Given the description of an element on the screen output the (x, y) to click on. 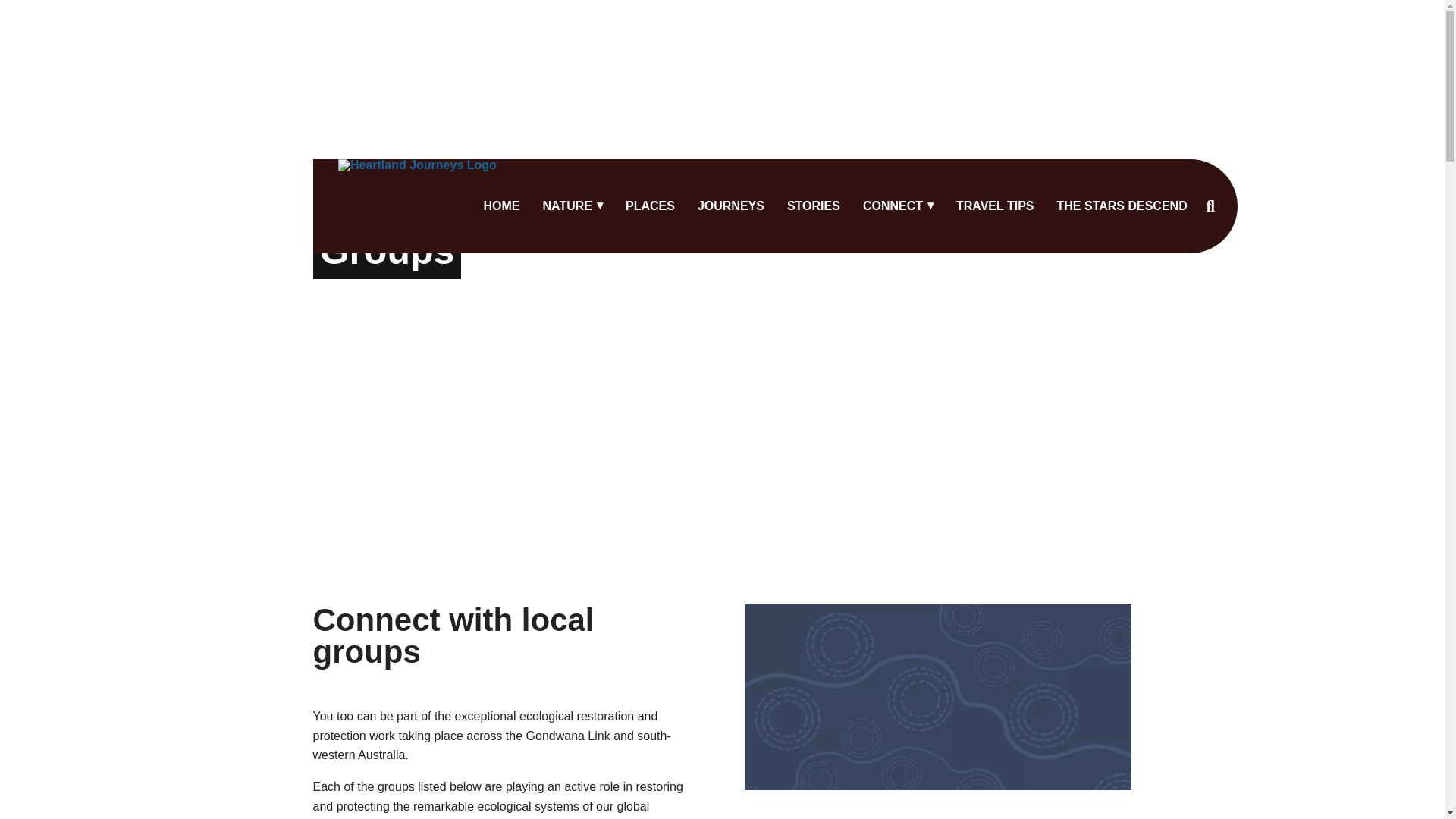
JOURNEYS (730, 205)
THE STARS DESCEND (1121, 205)
TRAVEL TIPS (994, 205)
CONNECT (897, 205)
